Given the description of an element on the screen output the (x, y) to click on. 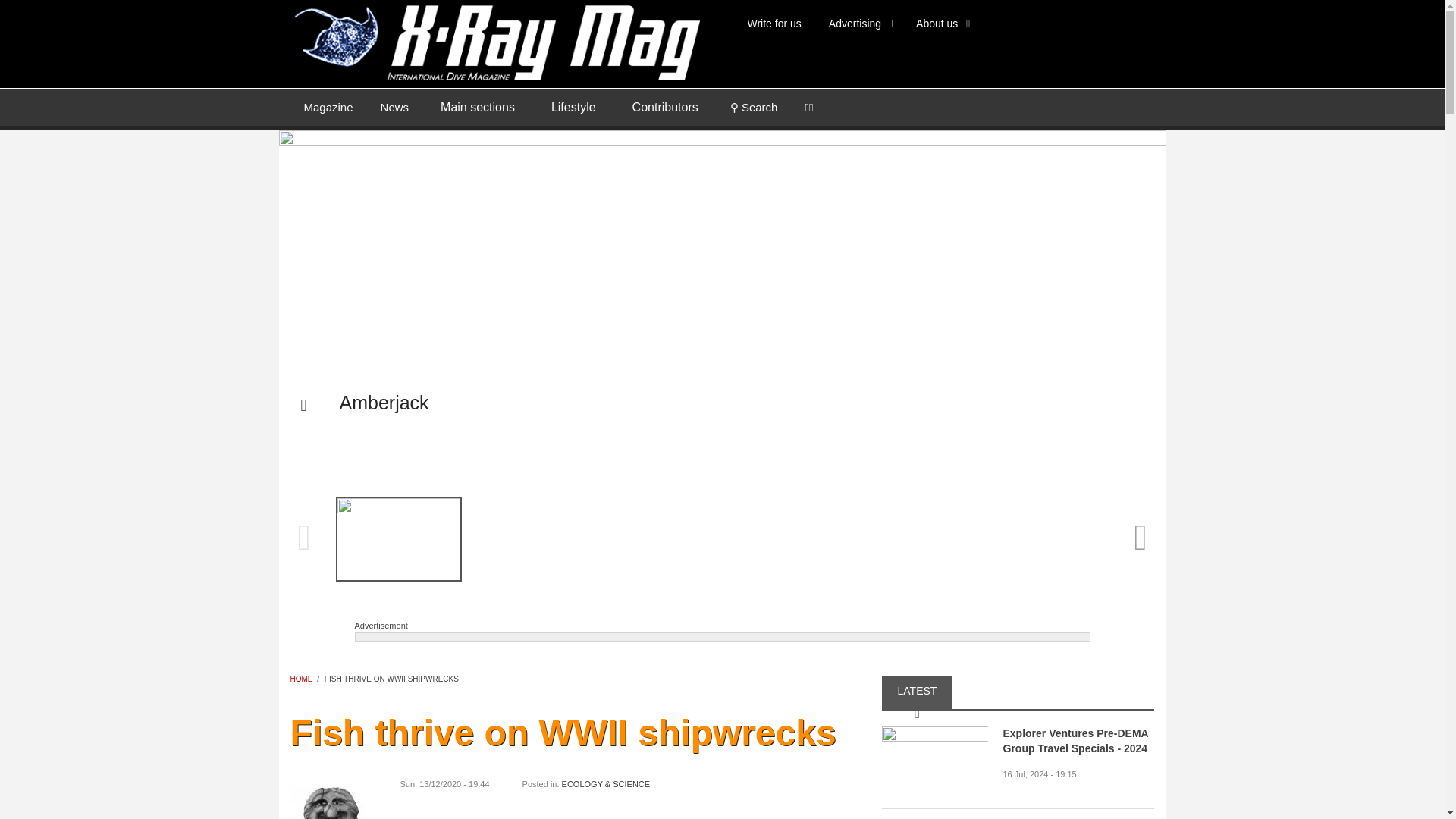
Advertising and promotions (858, 23)
Back issues (327, 106)
Main sections (477, 107)
Magazine (327, 106)
About us (940, 23)
Write for us (774, 23)
News (394, 106)
Latest posts (394, 106)
Advertising (858, 23)
Home (493, 41)
